Given the description of an element on the screen output the (x, y) to click on. 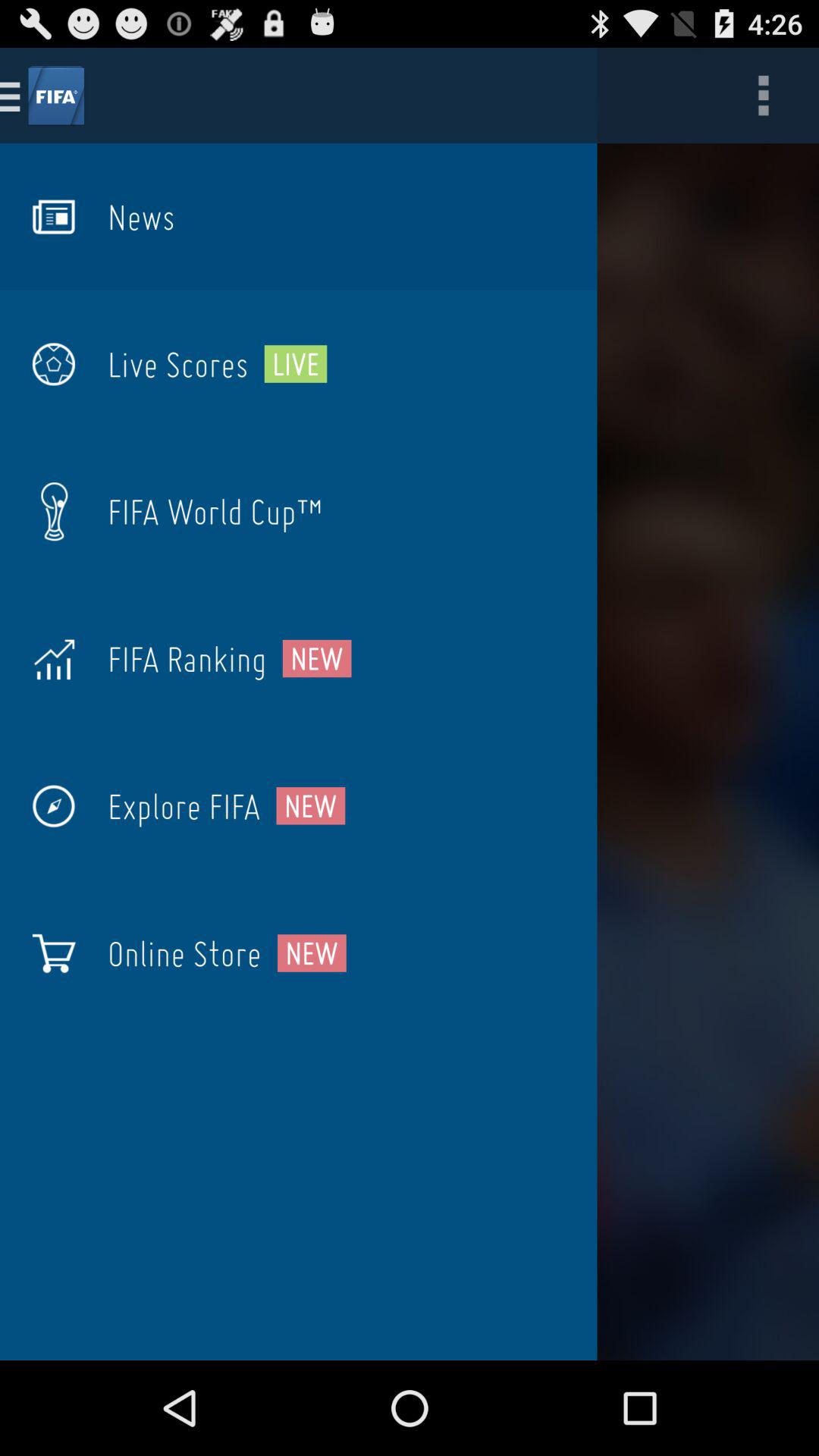
turn off the item next to the new item (184, 953)
